Given the description of an element on the screen output the (x, y) to click on. 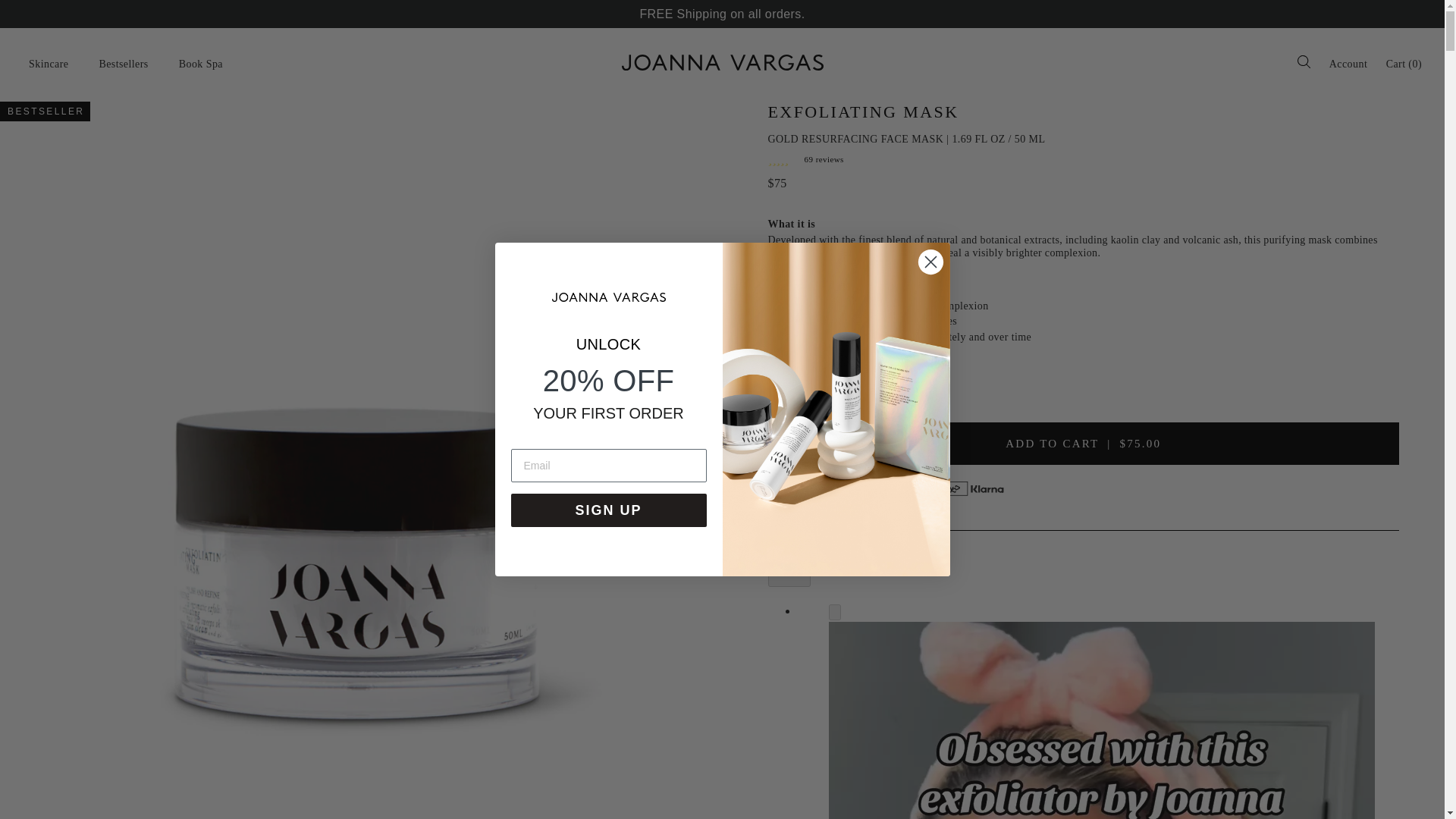
Bestsellers (122, 64)
FREE Shipping on all orders. (722, 13)
Account (1347, 64)
Skincare (47, 64)
Book Spa (200, 64)
